Given the description of an element on the screen output the (x, y) to click on. 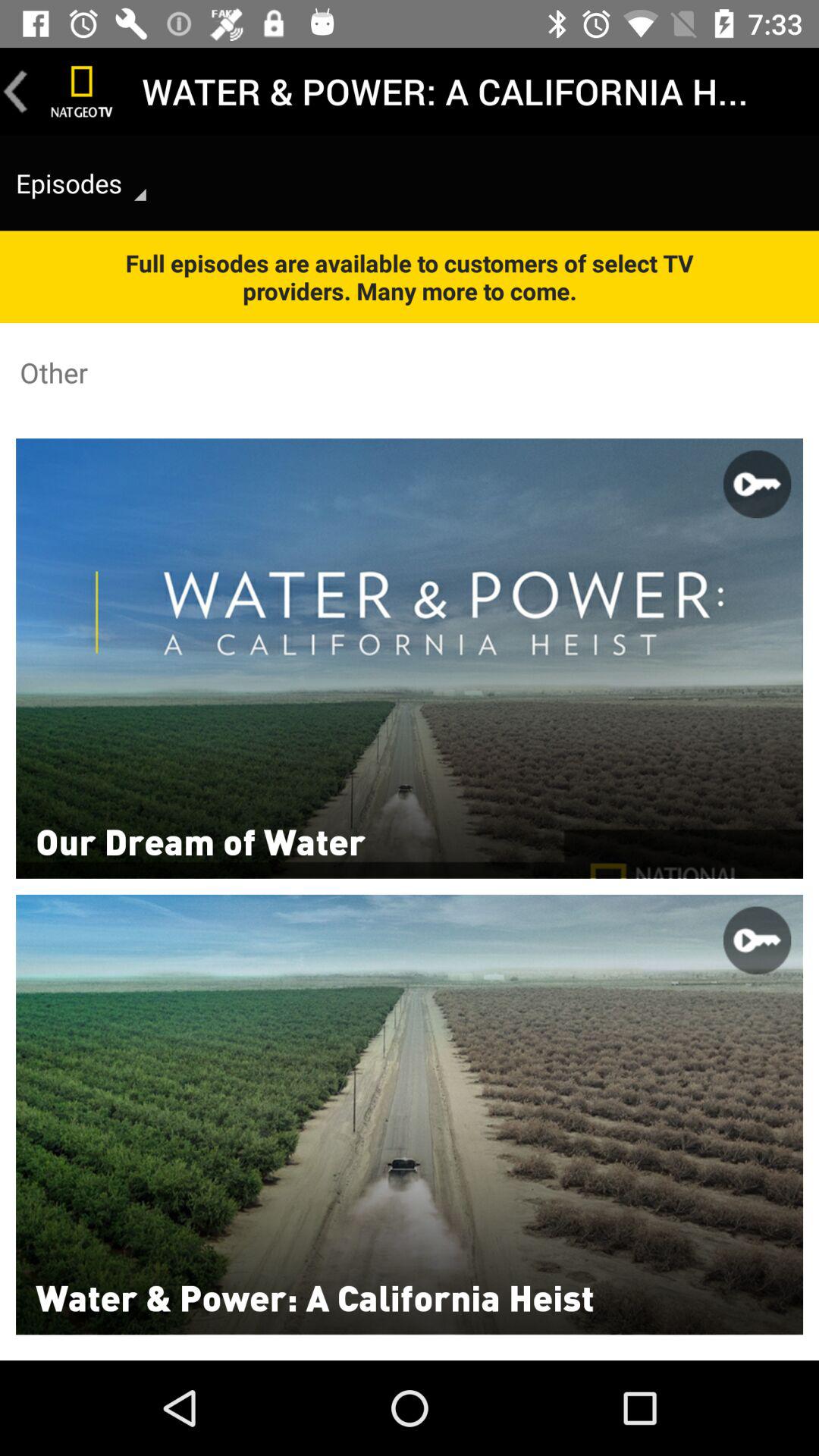
launch item on the left (200, 840)
